Given the description of an element on the screen output the (x, y) to click on. 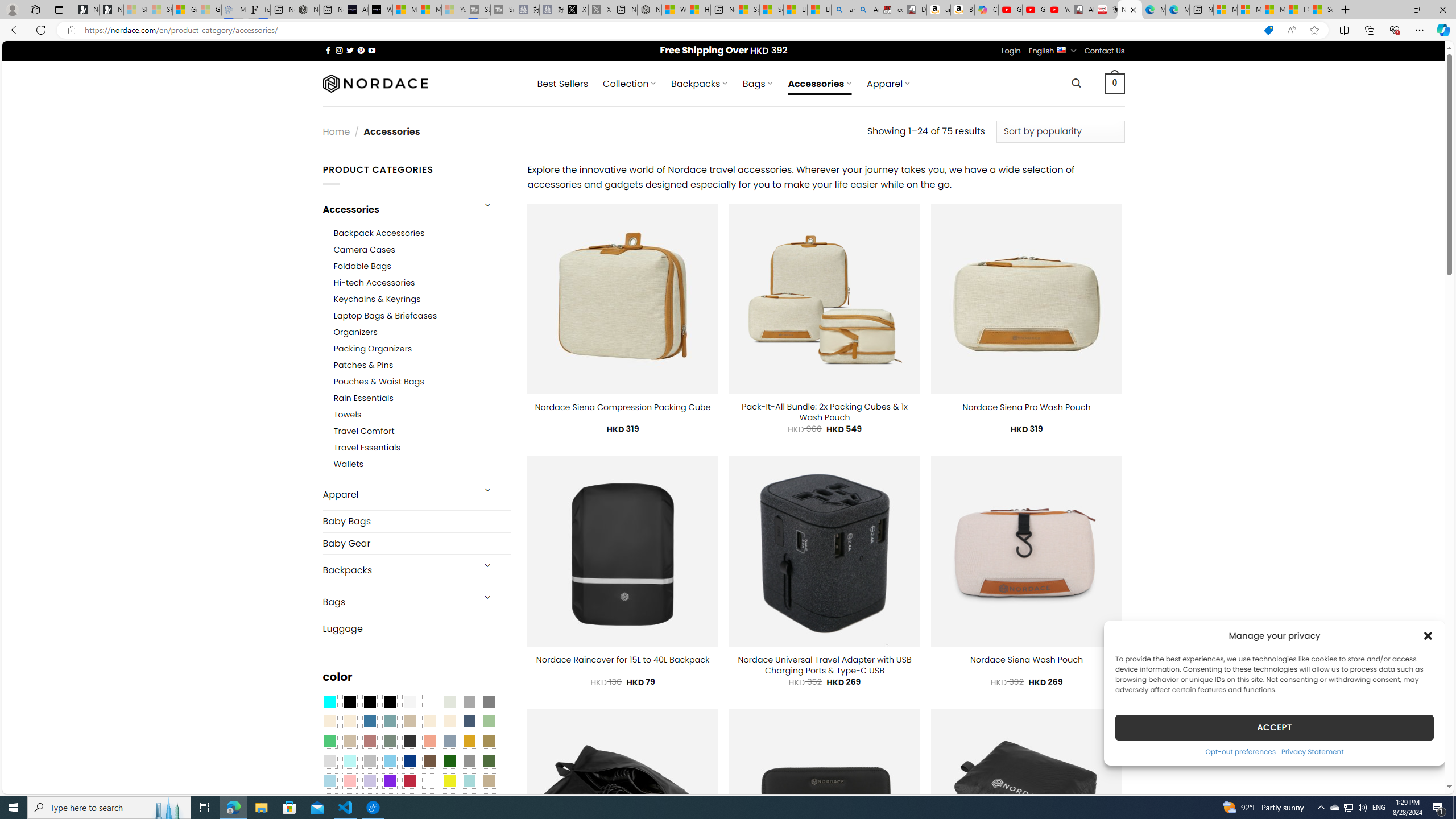
Foldable Bags (362, 265)
Ash Gray (449, 701)
Contact Us (1104, 50)
Home (335, 131)
Black-Brown (389, 701)
Privacy Statement (1312, 750)
All Black (349, 701)
Dusty Blue (449, 741)
Rose (369, 741)
